Given the description of an element on the screen output the (x, y) to click on. 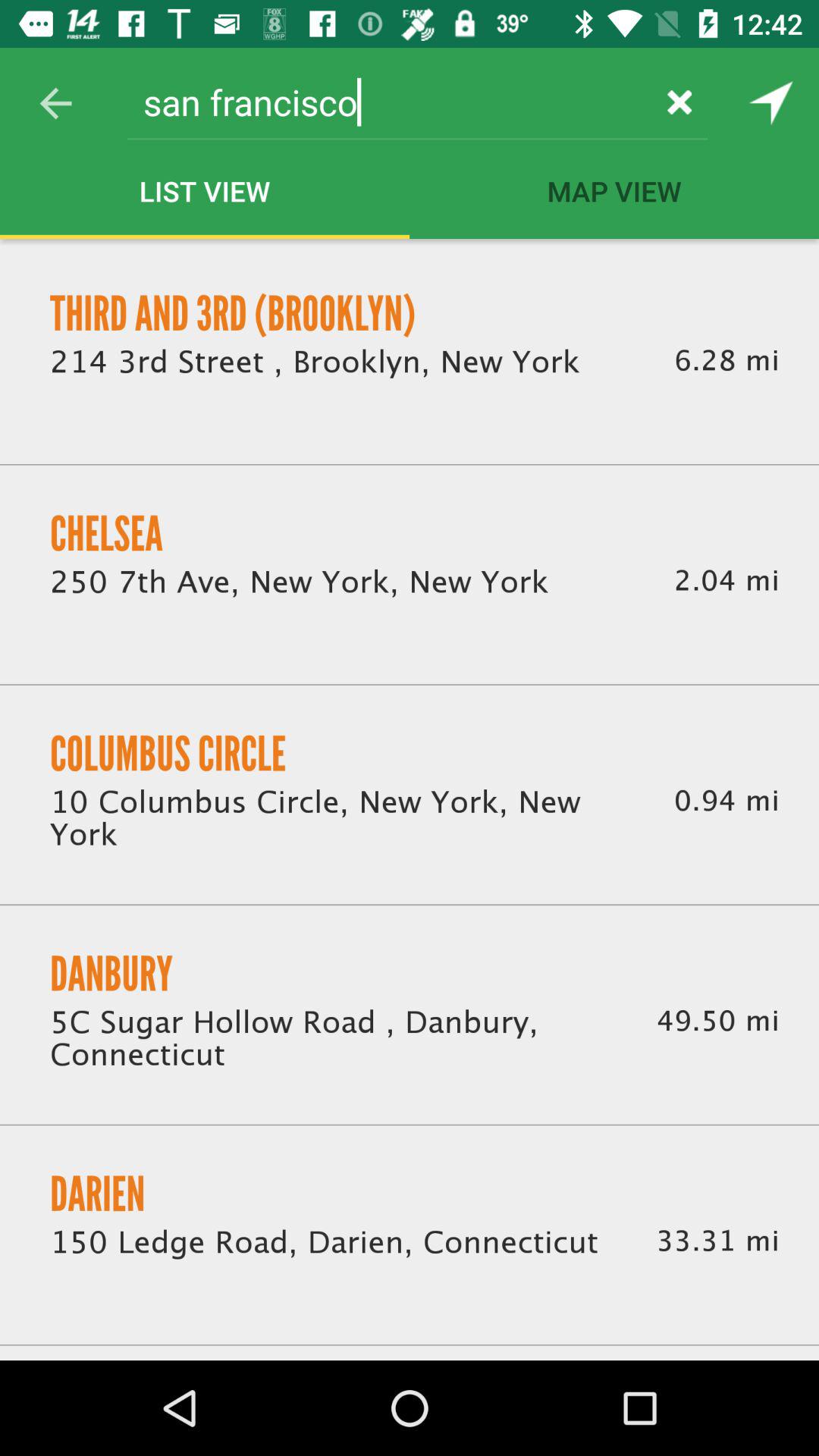
select the icon next to 214 3rd street icon (726, 360)
